Given the description of an element on the screen output the (x, y) to click on. 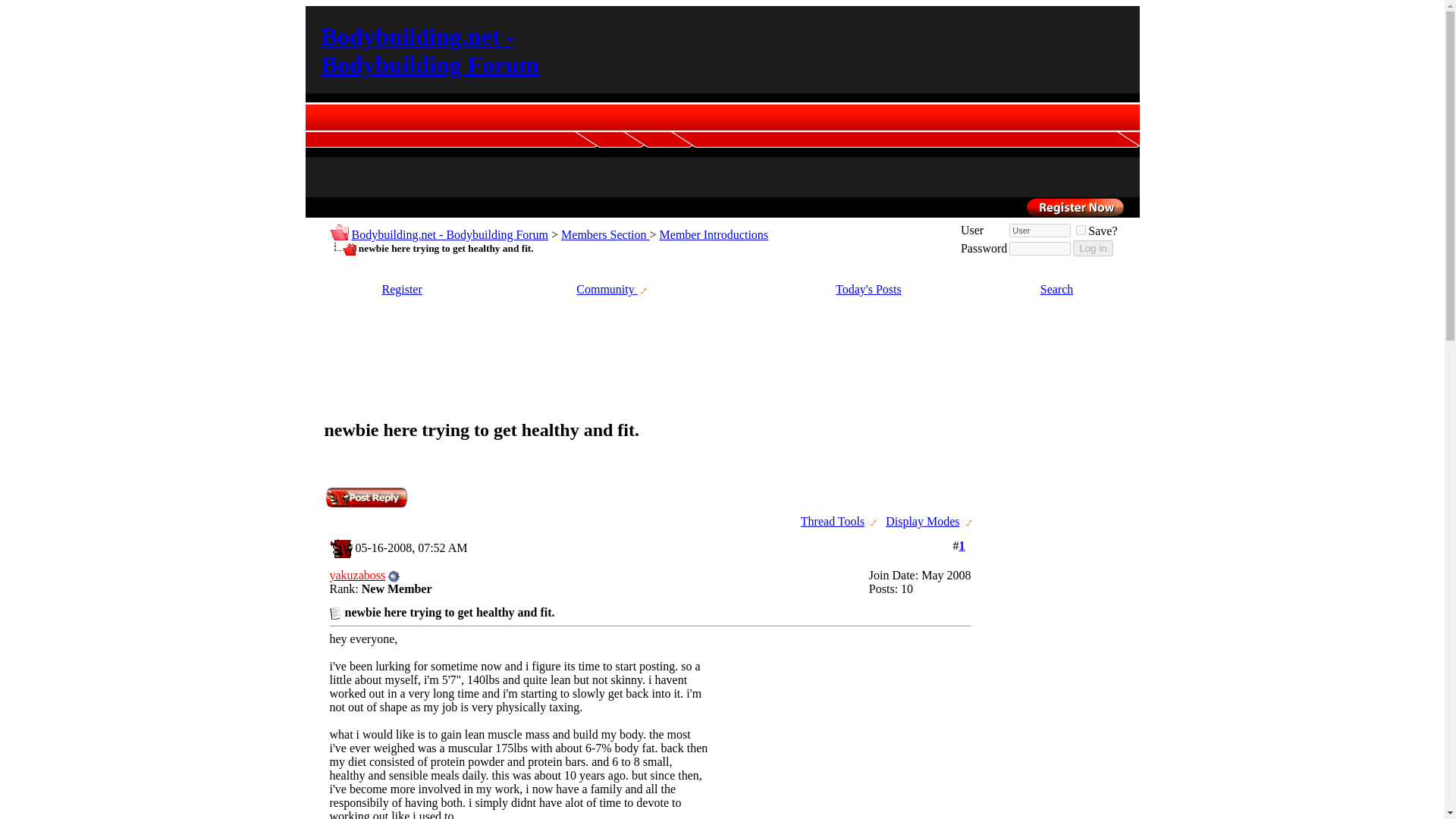
Advertisement (843, 740)
Register (401, 288)
yakuzaboss (357, 574)
Today's Posts (868, 288)
Bodybuilding.net - Bodybuilding Forum (429, 49)
Members Section (604, 234)
Default (334, 613)
yakuzaboss is offline (393, 576)
Community (610, 288)
Log in (1092, 248)
Go Back (338, 231)
Log in (1092, 248)
Old (340, 548)
Reply (365, 496)
